Given the description of an element on the screen output the (x, y) to click on. 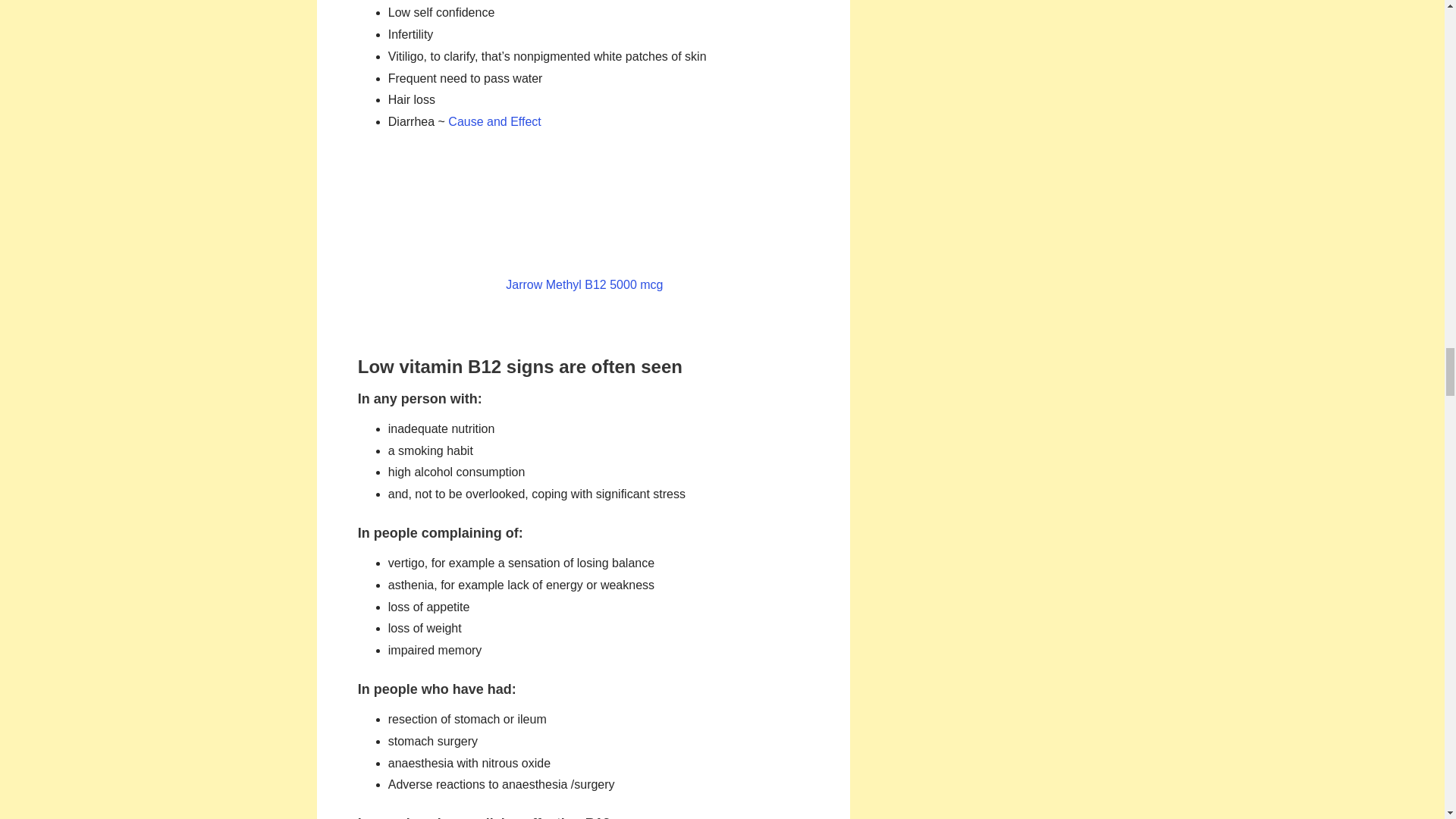
Jarrow Methyl B12, 5000mcg, 60 Lozenges  (583, 223)
